Given the description of an element on the screen output the (x, y) to click on. 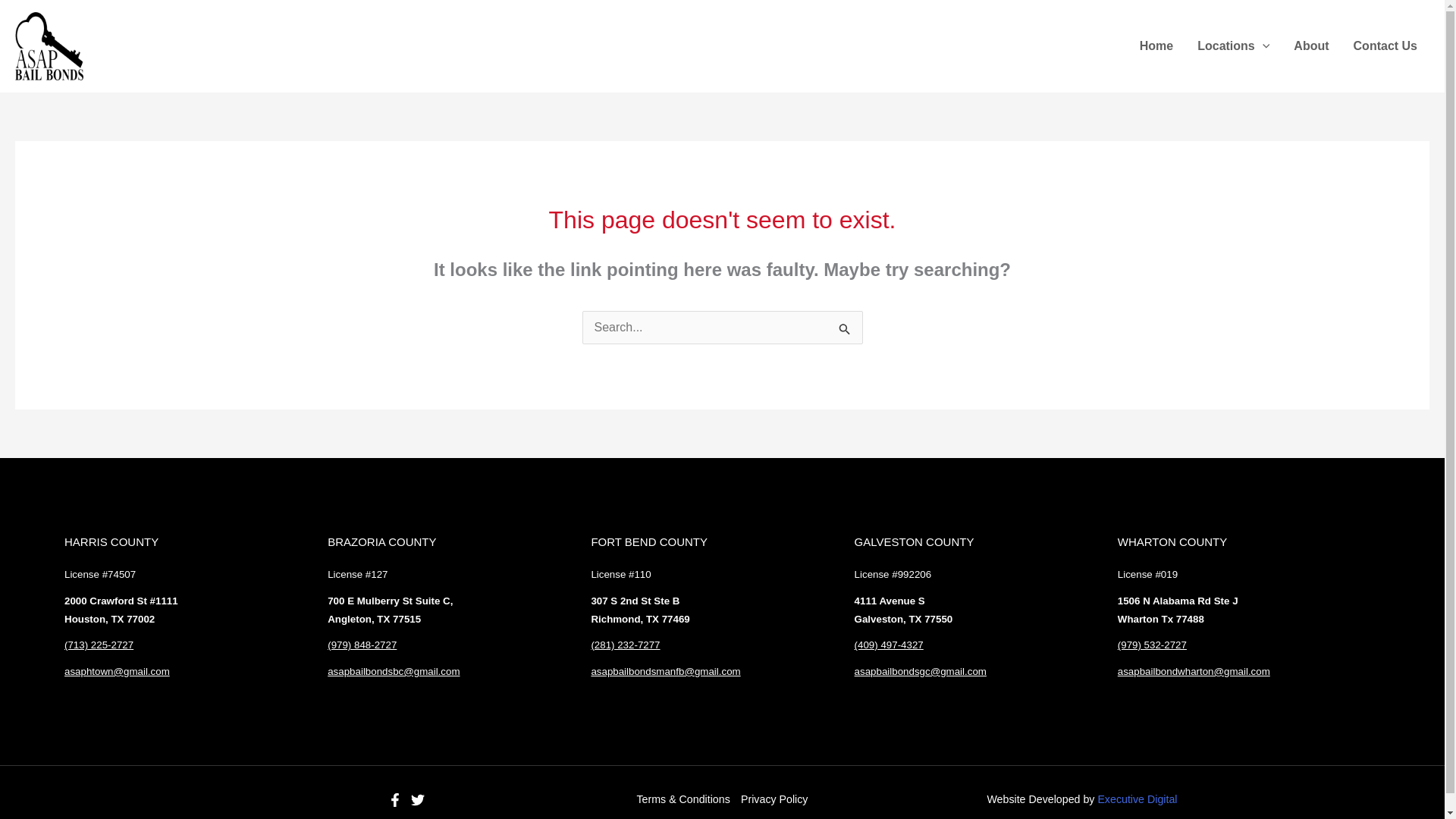
About (1310, 46)
Search (844, 328)
Search (844, 328)
Contact Us (1384, 46)
Locations (1233, 46)
Home (1155, 46)
Search (844, 328)
